Given the description of an element on the screen output the (x, y) to click on. 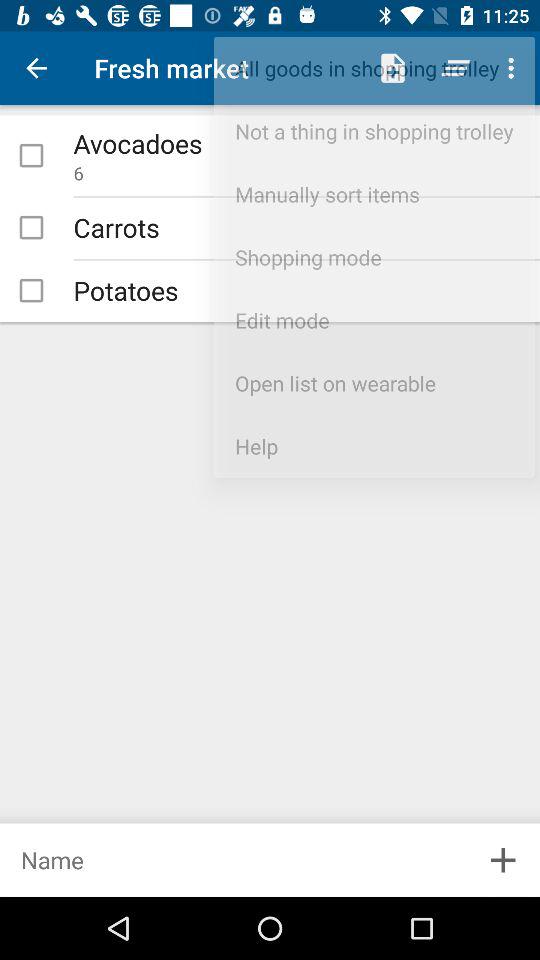
tick mark (31, 155)
